Given the description of an element on the screen output the (x, y) to click on. 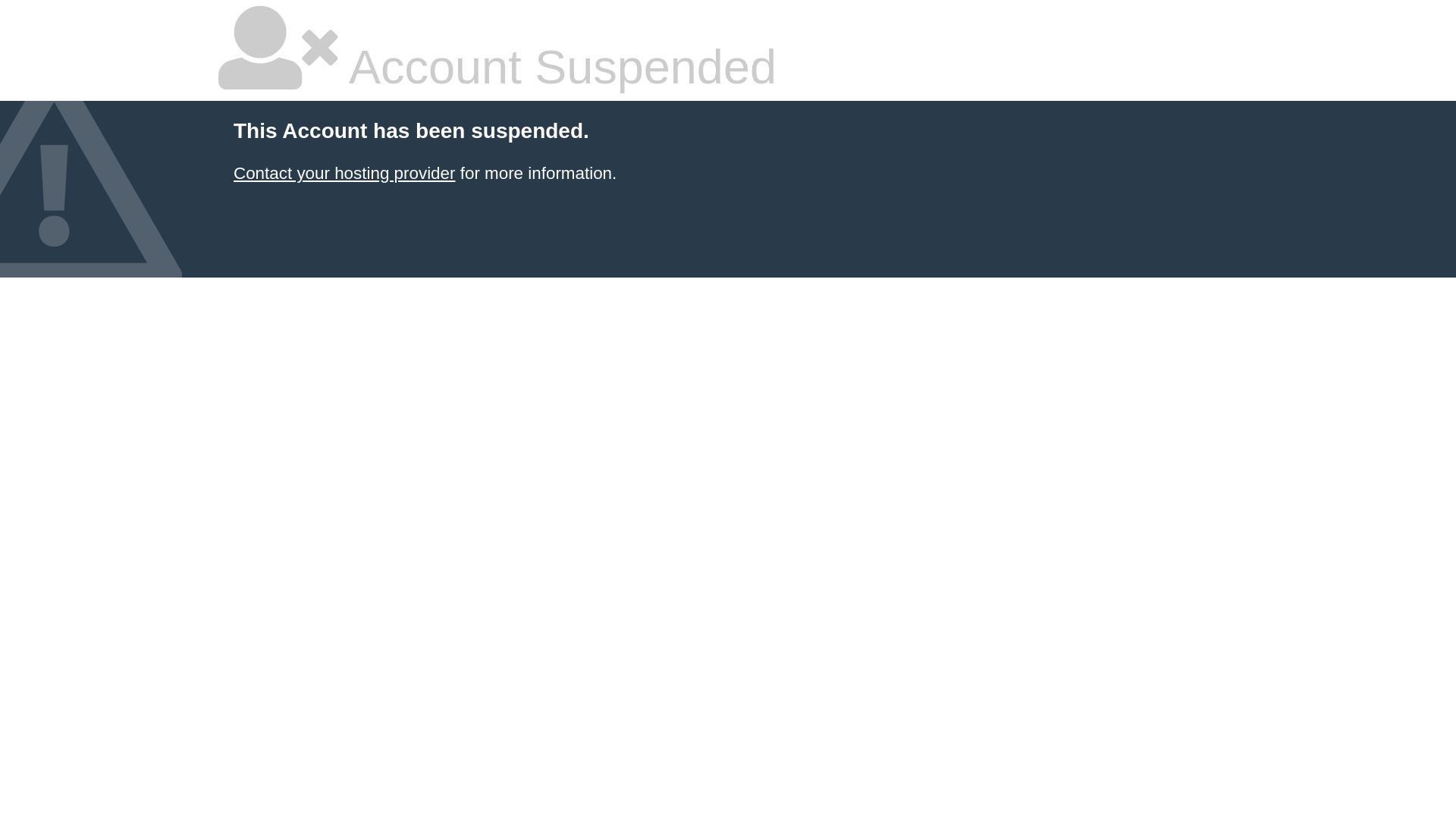
Contact your hosting provider Element type: text (344, 172)
